Given the description of an element on the screen output the (x, y) to click on. 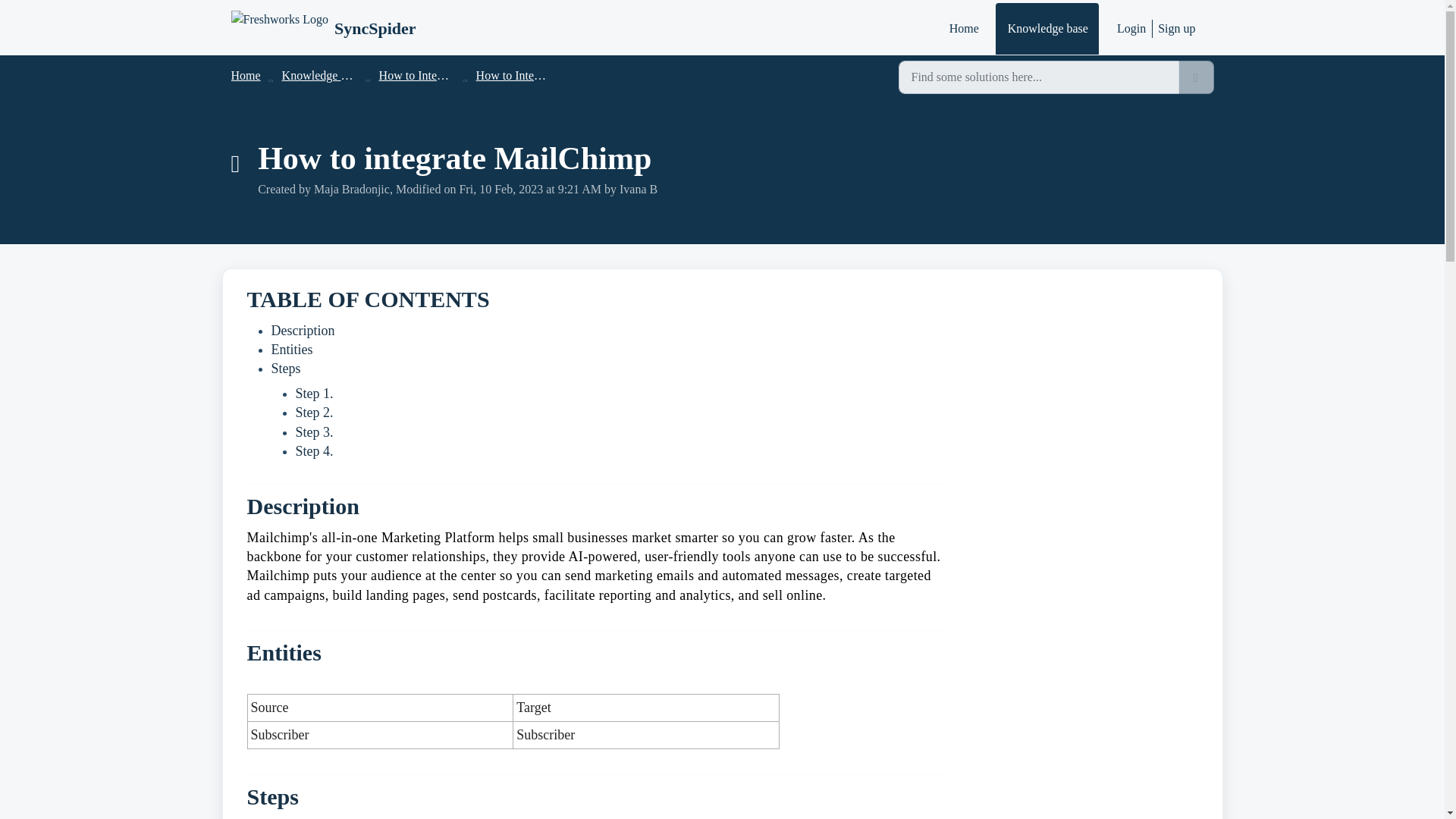
Description (302, 330)
How to Integrate (516, 74)
Step 3. (314, 432)
Steps (285, 368)
Knowledge base (1047, 28)
Step 4. (314, 450)
SyncSpider (322, 28)
Knowledge base (322, 74)
Step 2. (314, 412)
Home (963, 28)
